Given the description of an element on the screen output the (x, y) to click on. 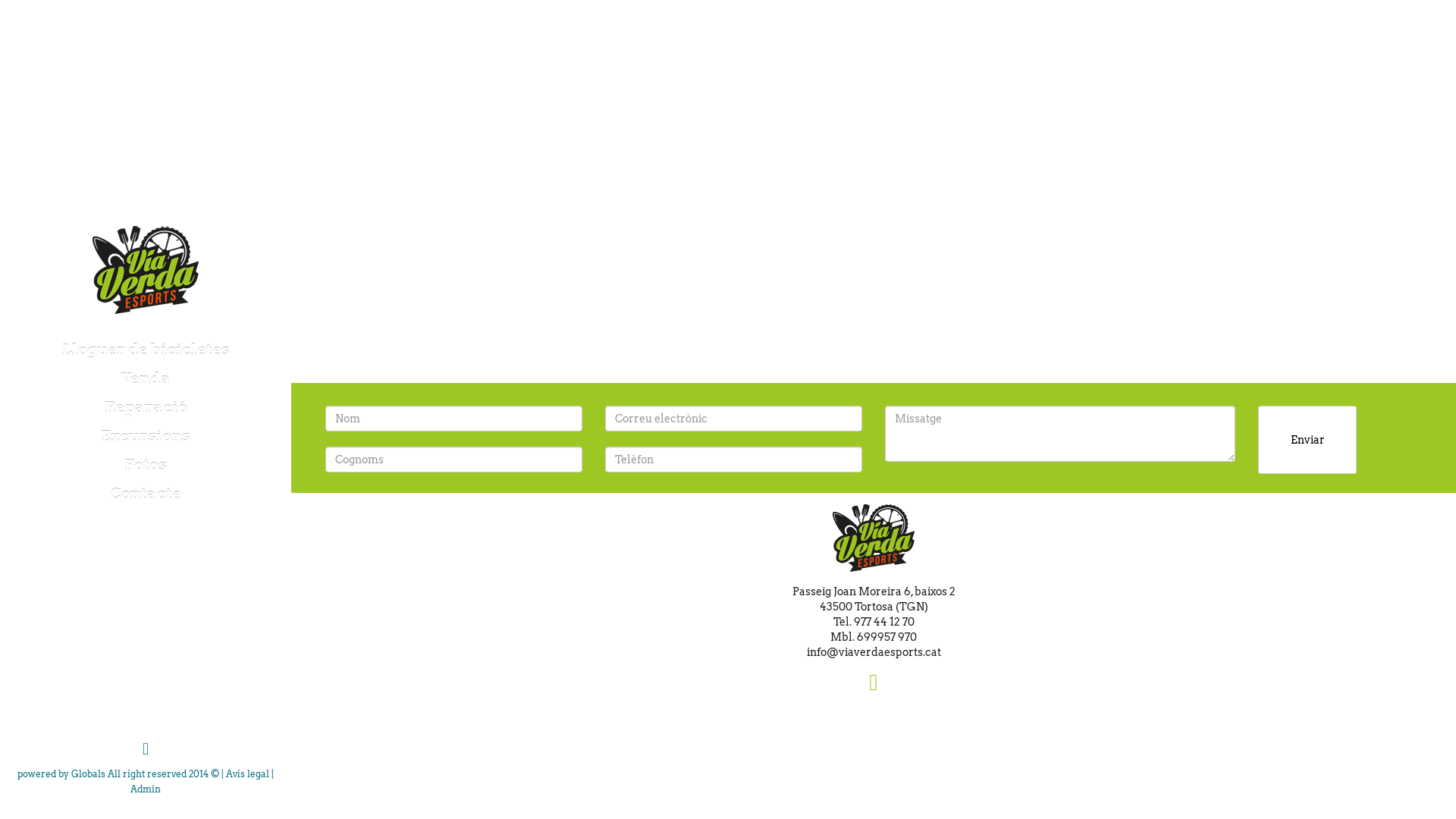
Fotos Element type: text (145, 465)
Admin Element type: text (145, 788)
Inici Element type: hover (145, 269)
Enviar Element type: text (1307, 439)
Contacte Element type: text (145, 494)
Globals Element type: text (88, 773)
Venda Element type: text (145, 378)
Lloguer de bicicletes Element type: text (145, 349)
Excursions Element type: text (145, 436)
